Given the description of an element on the screen output the (x, y) to click on. 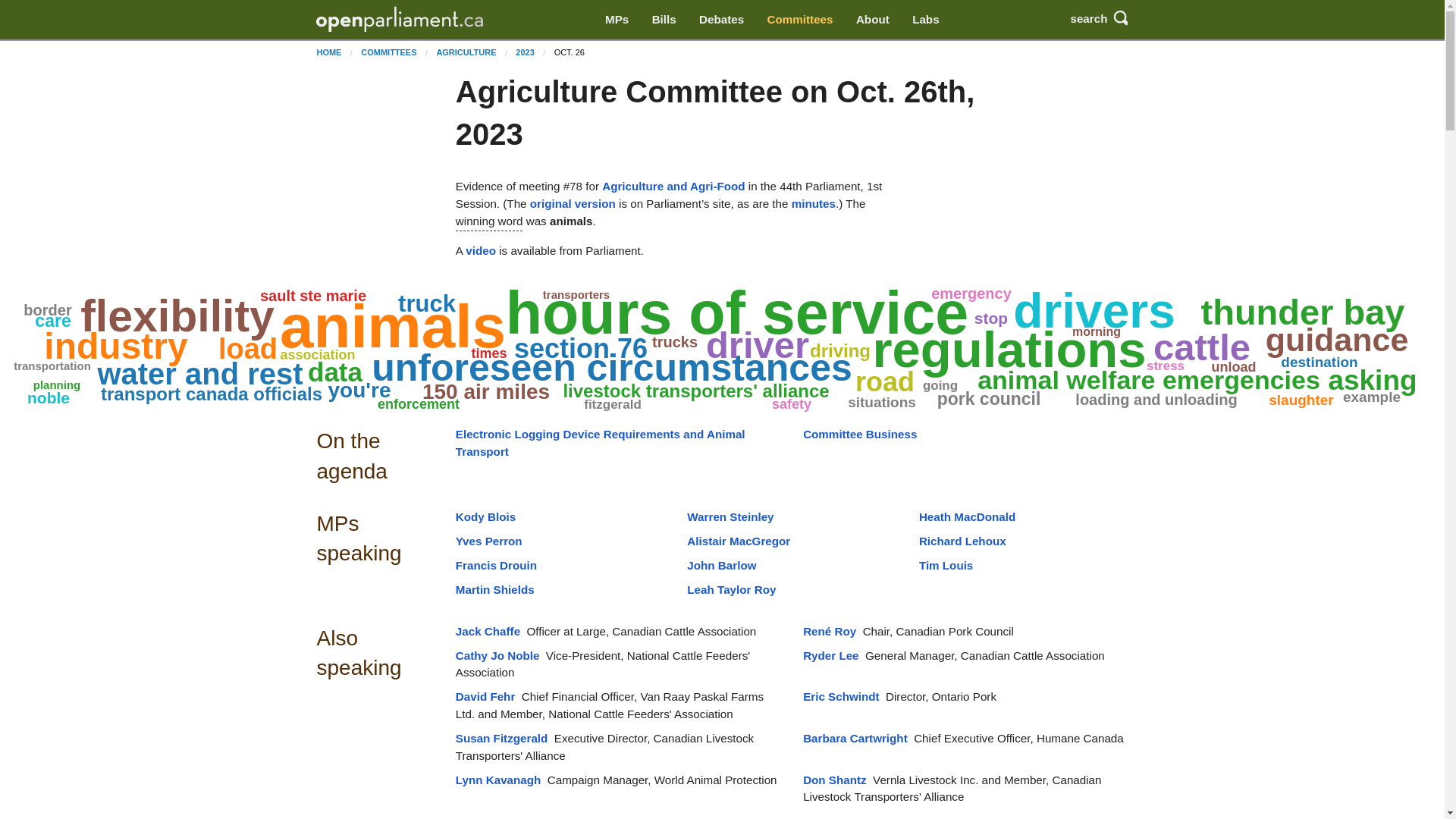
Martin Shields (494, 589)
Agriculture and Agri-Food (673, 185)
HOME (327, 51)
Warren Steinley (730, 516)
Richard Lehoux (962, 540)
original version (572, 203)
Committee Business (860, 433)
Debates (721, 19)
Tim Louis (945, 564)
Labs (925, 19)
